Given the description of an element on the screen output the (x, y) to click on. 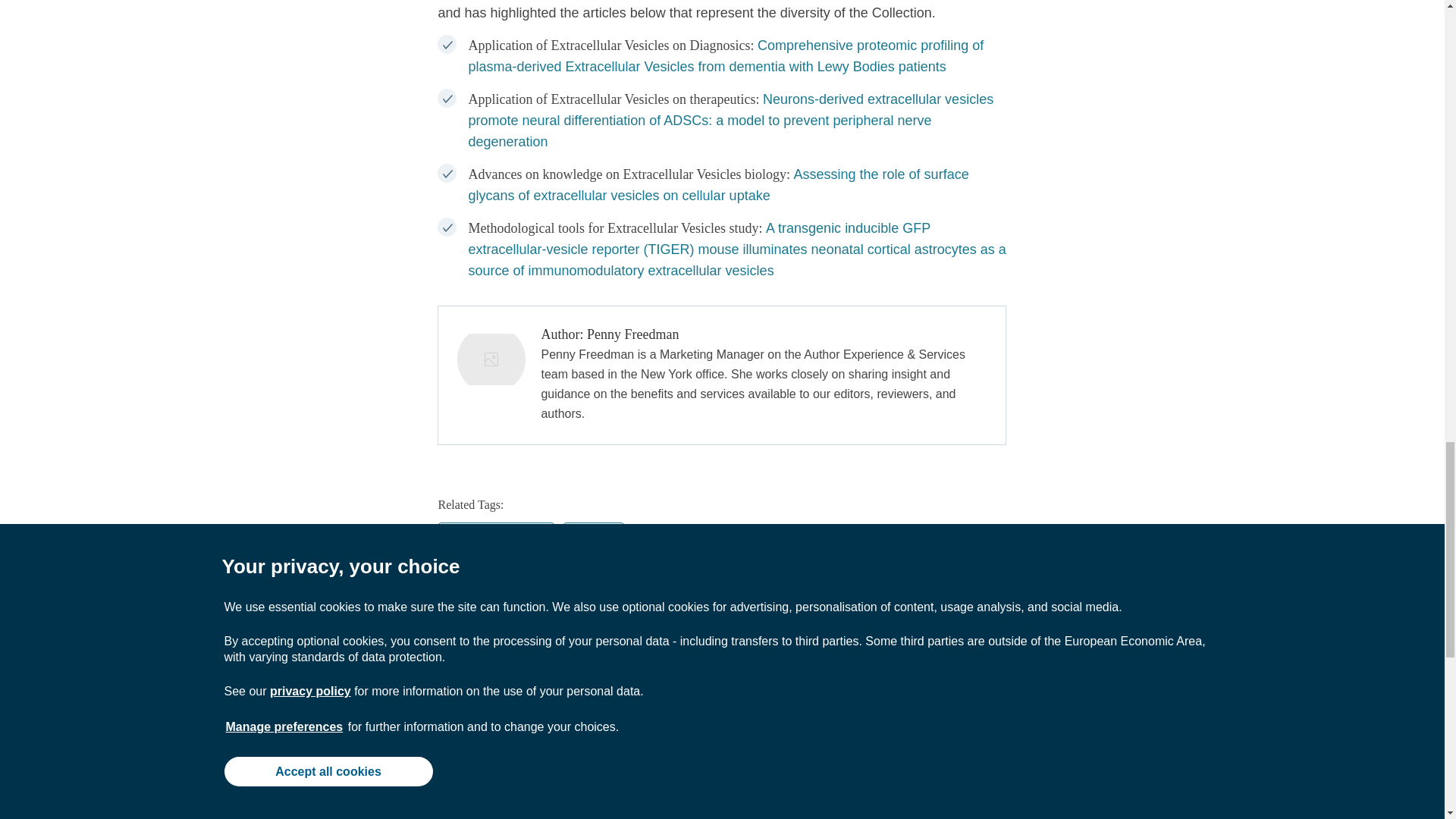
twitter (528, 611)
Products (646, 808)
facebook (490, 611)
Journals (343, 785)
editors (593, 539)
Overview (646, 785)
Books (343, 808)
editor case study (496, 539)
linkedin (566, 611)
Editors (494, 816)
